Given the description of an element on the screen output the (x, y) to click on. 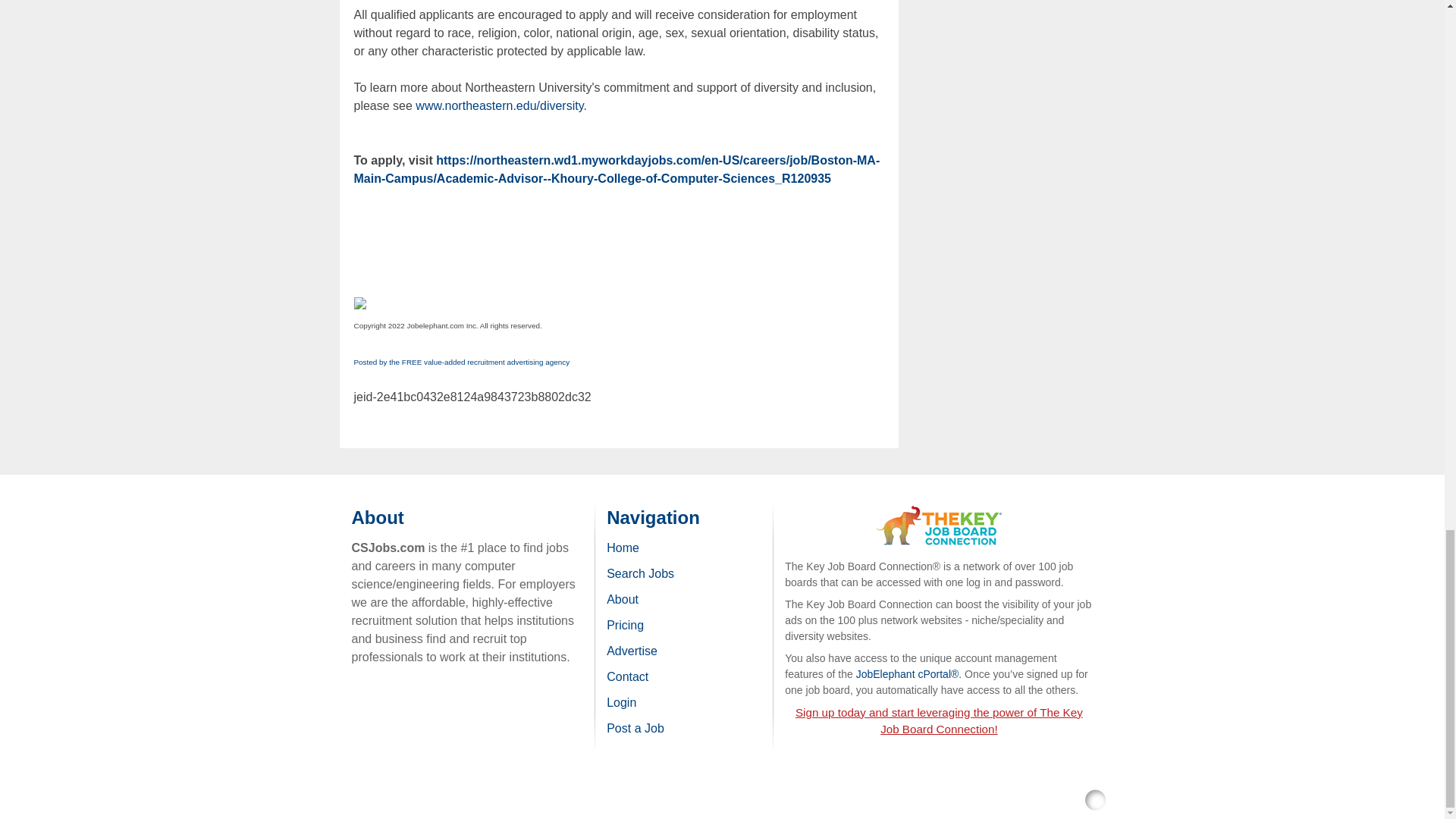
JobElephant THE KEY Job Board Connection (939, 512)
